Given the description of an element on the screen output the (x, y) to click on. 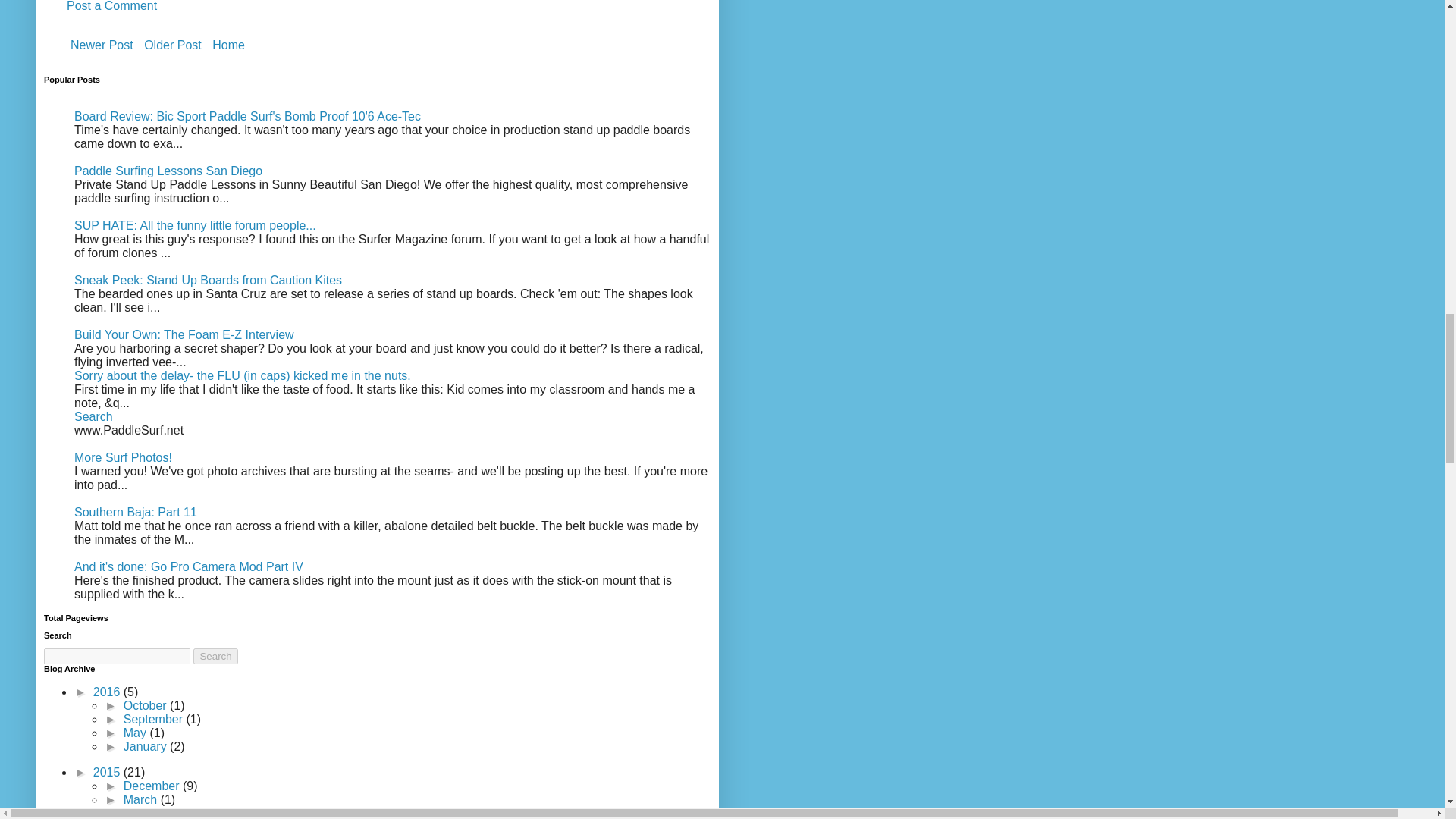
SUP HATE: All the funny little forum people... (194, 225)
Newer Post (101, 45)
Search (215, 656)
Home (228, 45)
Older Post (172, 45)
Sneak Peek: Stand Up Boards from Caution Kites (208, 279)
Post a Comment (111, 6)
Build Your Own: The Foam E-Z Interview (184, 334)
Older Post (172, 45)
Paddle Surfing Lessons San Diego (168, 170)
Southern Baja: Part 11 (135, 512)
Search (93, 416)
More Surf Photos! (122, 457)
Newer Post (101, 45)
